Given the description of an element on the screen output the (x, y) to click on. 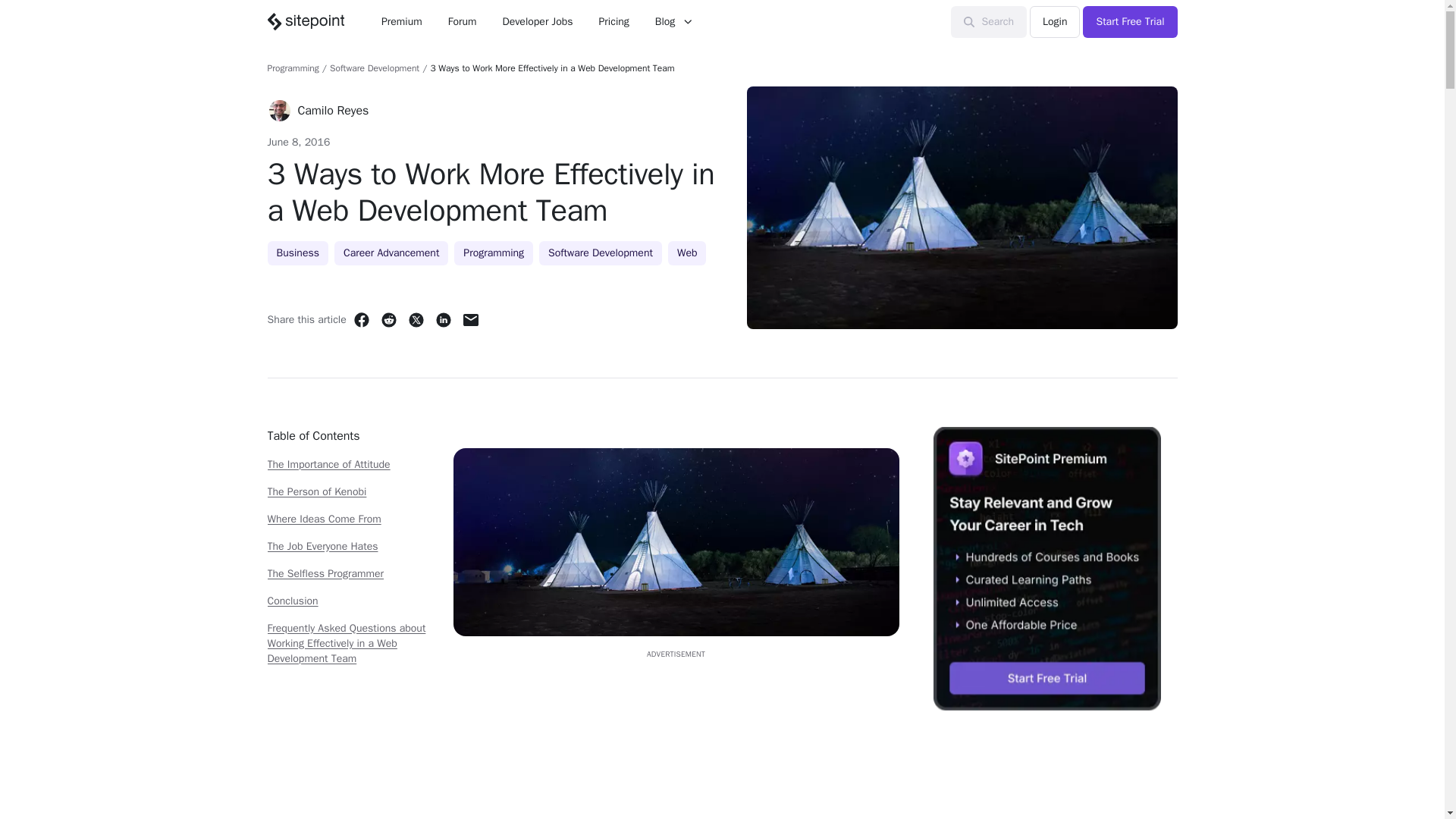
Search (988, 21)
Blog (674, 21)
Login (1054, 21)
Pricing (614, 21)
Premium (401, 21)
Camilo Reyes (332, 110)
Forum (462, 21)
Programming (292, 68)
Start Free Trial (1129, 21)
